Given the description of an element on the screen output the (x, y) to click on. 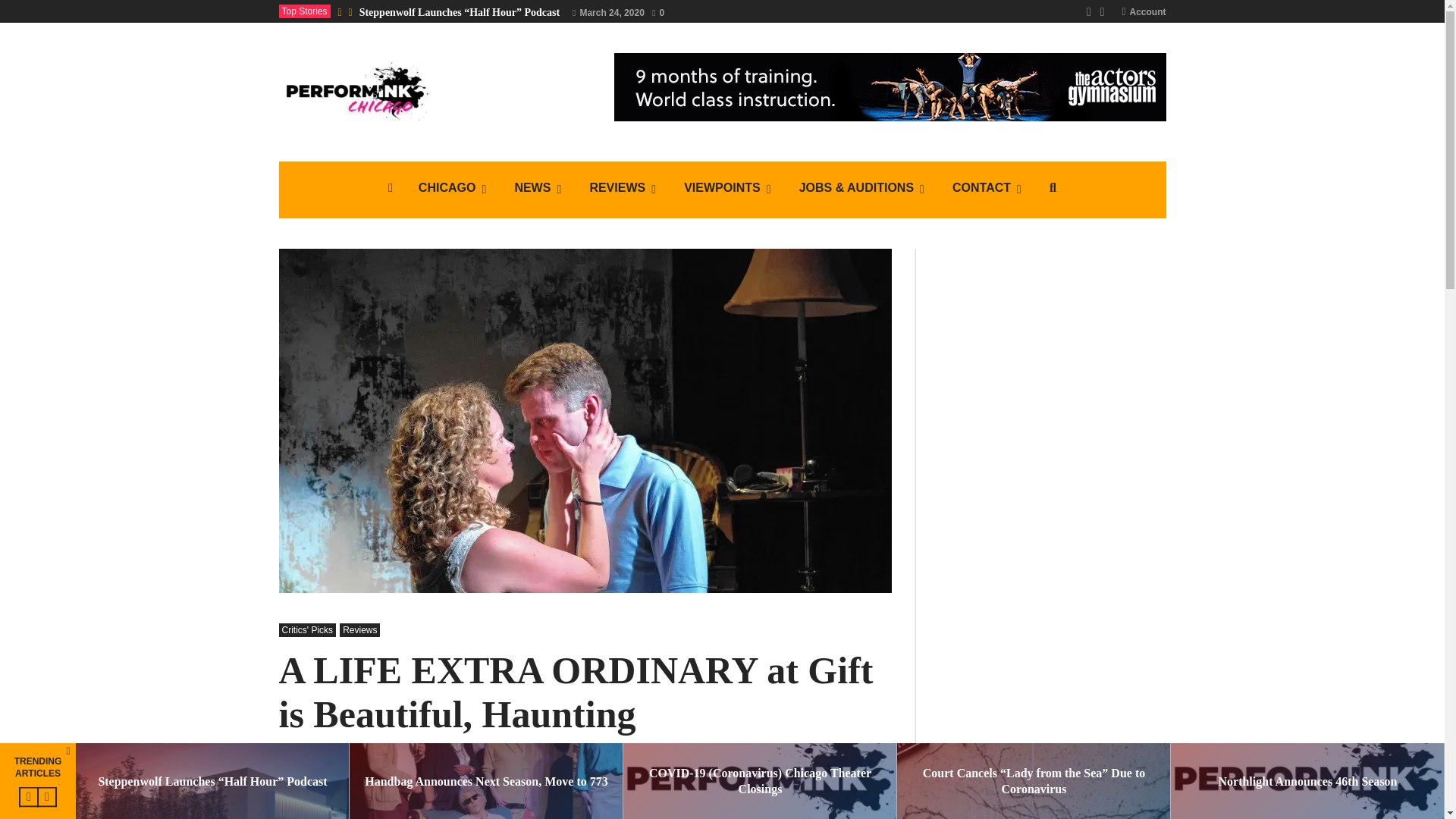
Viewpoints (728, 189)
Reviews (623, 189)
Chicago (454, 189)
Search (417, 467)
Handbag Announces Next Season, Move to 773 (486, 780)
Top Stories (304, 11)
News (538, 189)
Login (721, 457)
